Given the description of an element on the screen output the (x, y) to click on. 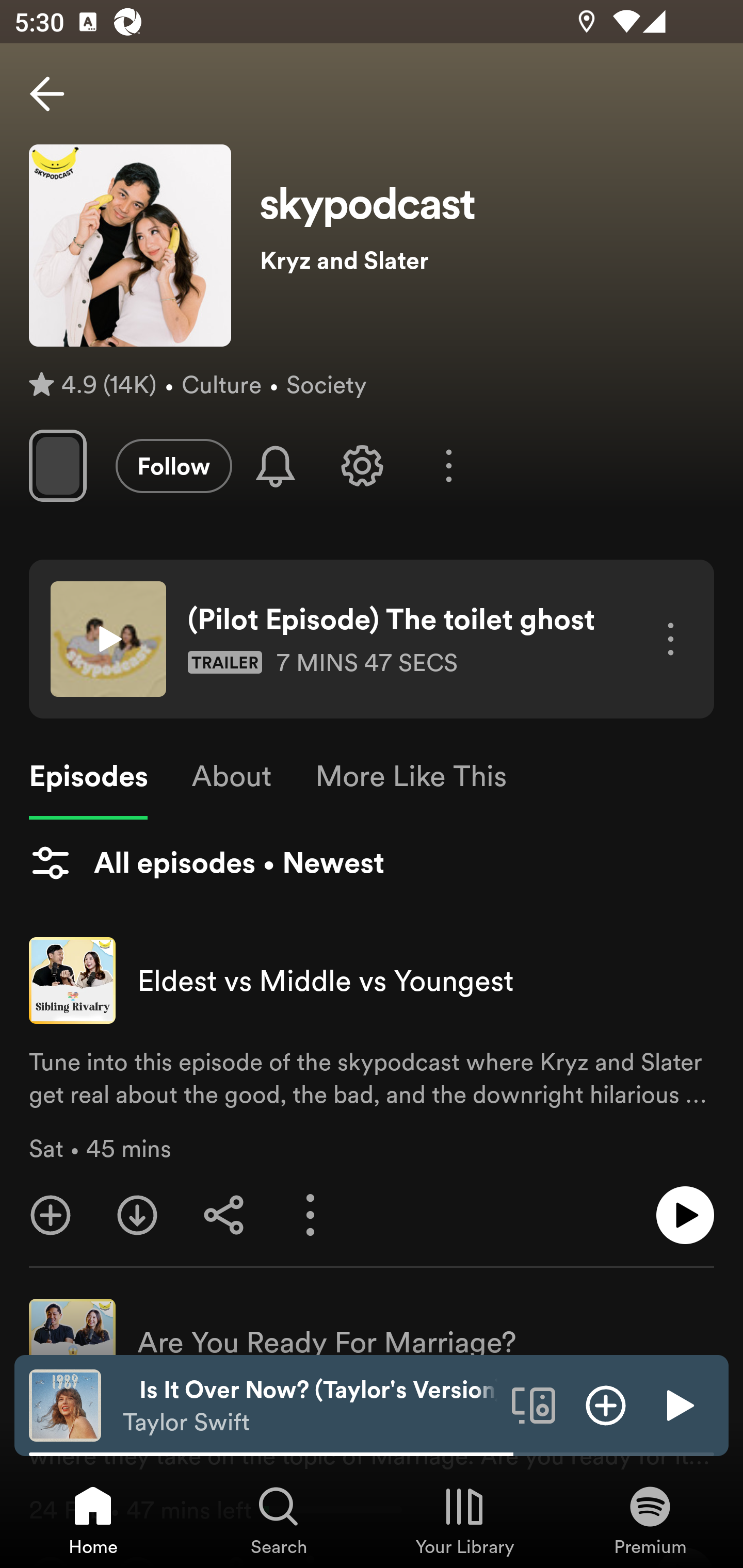
Back (46, 93)
Kryz and Slater (487, 259)
Settings for this Show. (361, 465)
More options for show skypodcast (448, 465)
Follow Follow this Show (173, 465)
About (231, 776)
More Like This (410, 776)
All episodes • Newest (206, 863)
Add Eldest vs Middle vs Youngest to Your Episodes (50, 1215)
Download episode: Eldest vs Middle vs Youngest (136, 1215)
Share (223, 1215)
Play episode: Eldest vs Middle vs Youngest (684, 1215)
The cover art of the currently playing track (64, 1404)
Connect to a device. Opens the devices menu (533, 1404)
Add item (605, 1404)
Play (677, 1404)
Home, Tab 1 of 4 Home Home (92, 1519)
Search, Tab 2 of 4 Search Search (278, 1519)
Your Library, Tab 3 of 4 Your Library Your Library (464, 1519)
Premium, Tab 4 of 4 Premium Premium (650, 1519)
Add Are You Ready For Marriage? to Your Episodes (50, 1550)
